Given the description of an element on the screen output the (x, y) to click on. 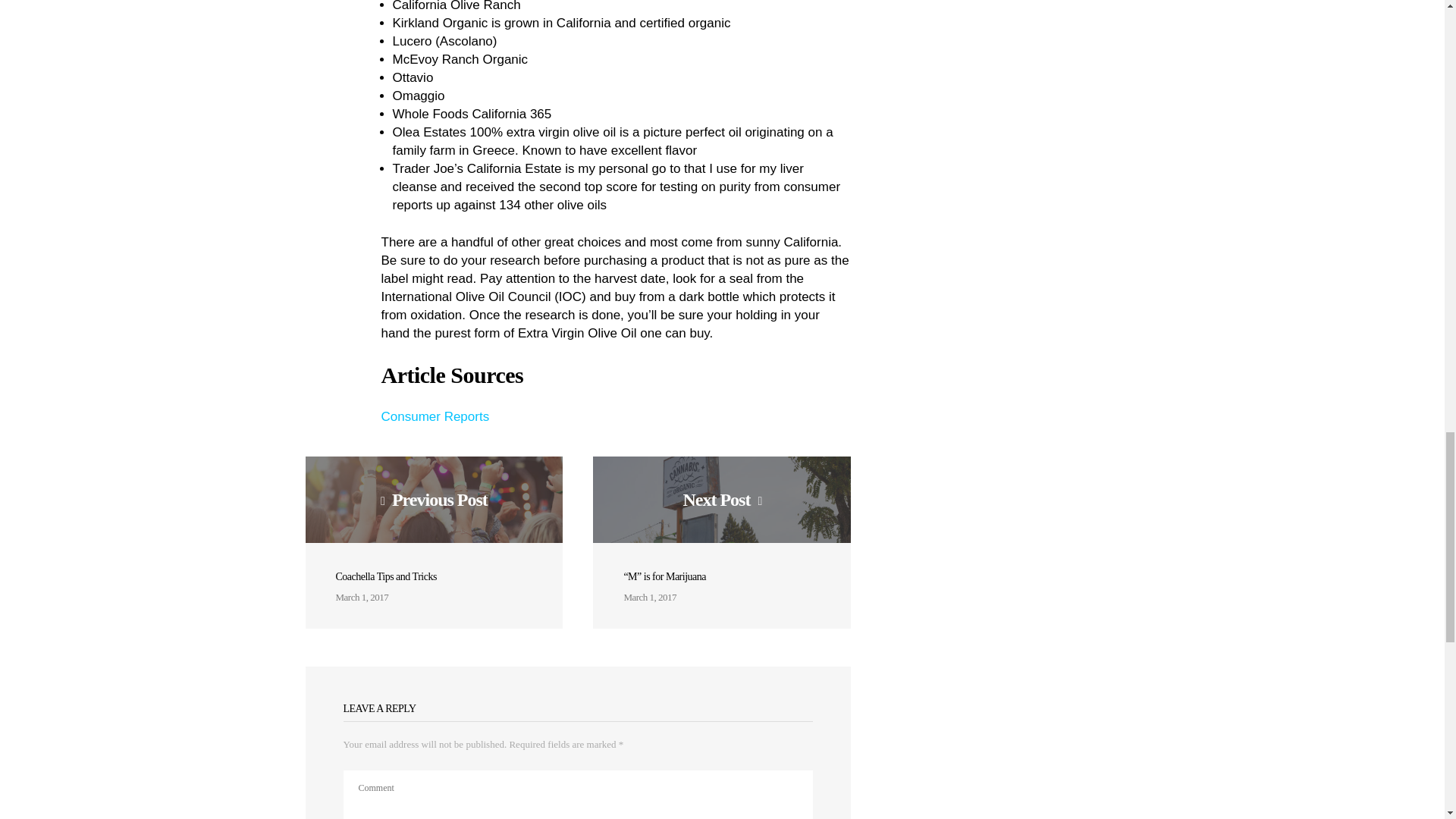
Consumer Reports (434, 416)
Coachella Tips and Tricks (384, 576)
